Given the description of an element on the screen output the (x, y) to click on. 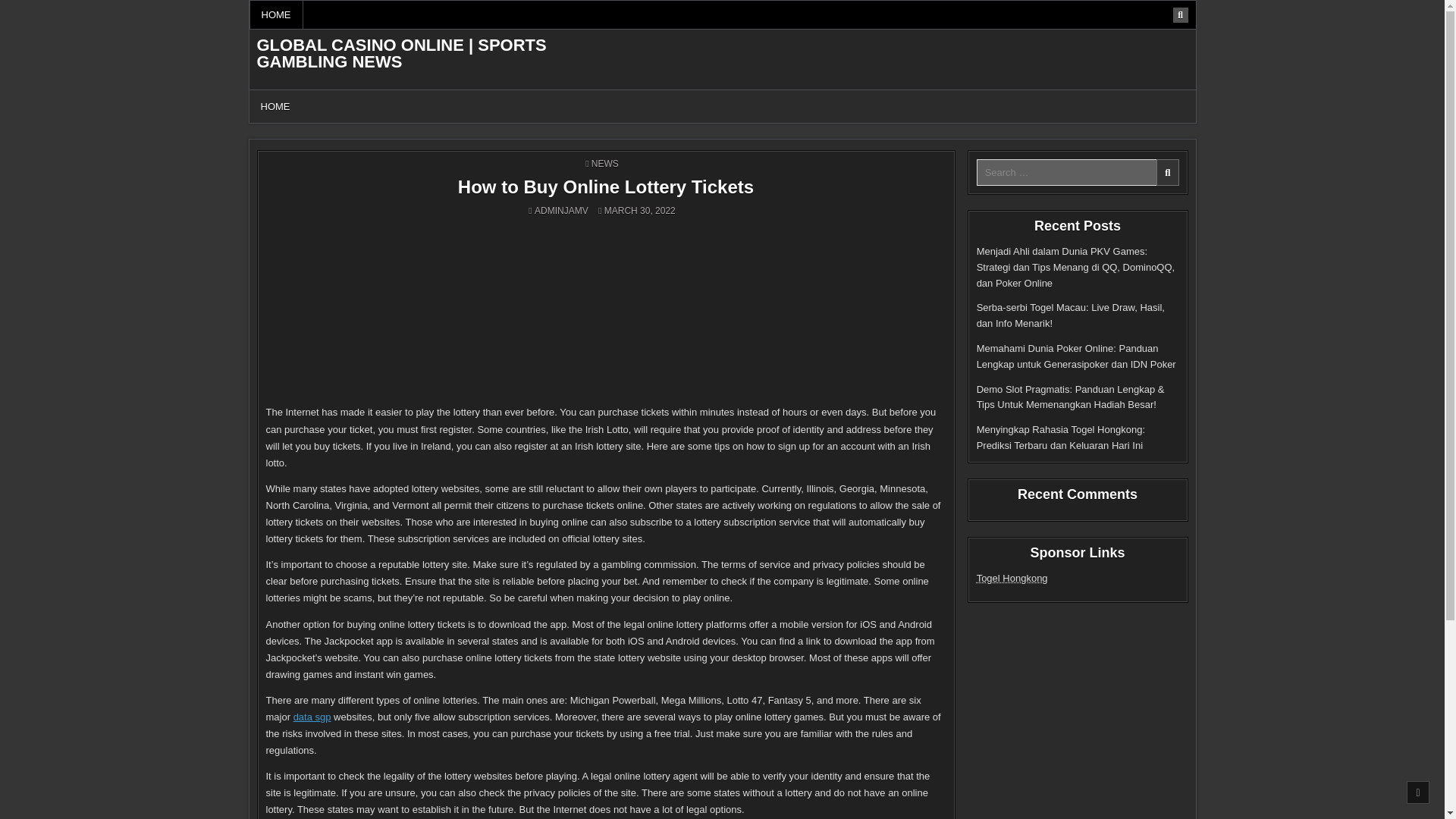
NEWS (604, 163)
Serba-serbi Togel Macau: Live Draw, Hasil, dan Info Menarik! (1070, 315)
HOME (274, 106)
How to Buy Online Lottery Tickets (606, 186)
SCROLL TO TOP (1417, 792)
Togel Hongkong (1012, 577)
ADMINJAMV (561, 210)
data sgp (312, 716)
SCROLL TO TOP (1417, 792)
HOME (275, 14)
Scroll to Top (1417, 792)
